Given the description of an element on the screen output the (x, y) to click on. 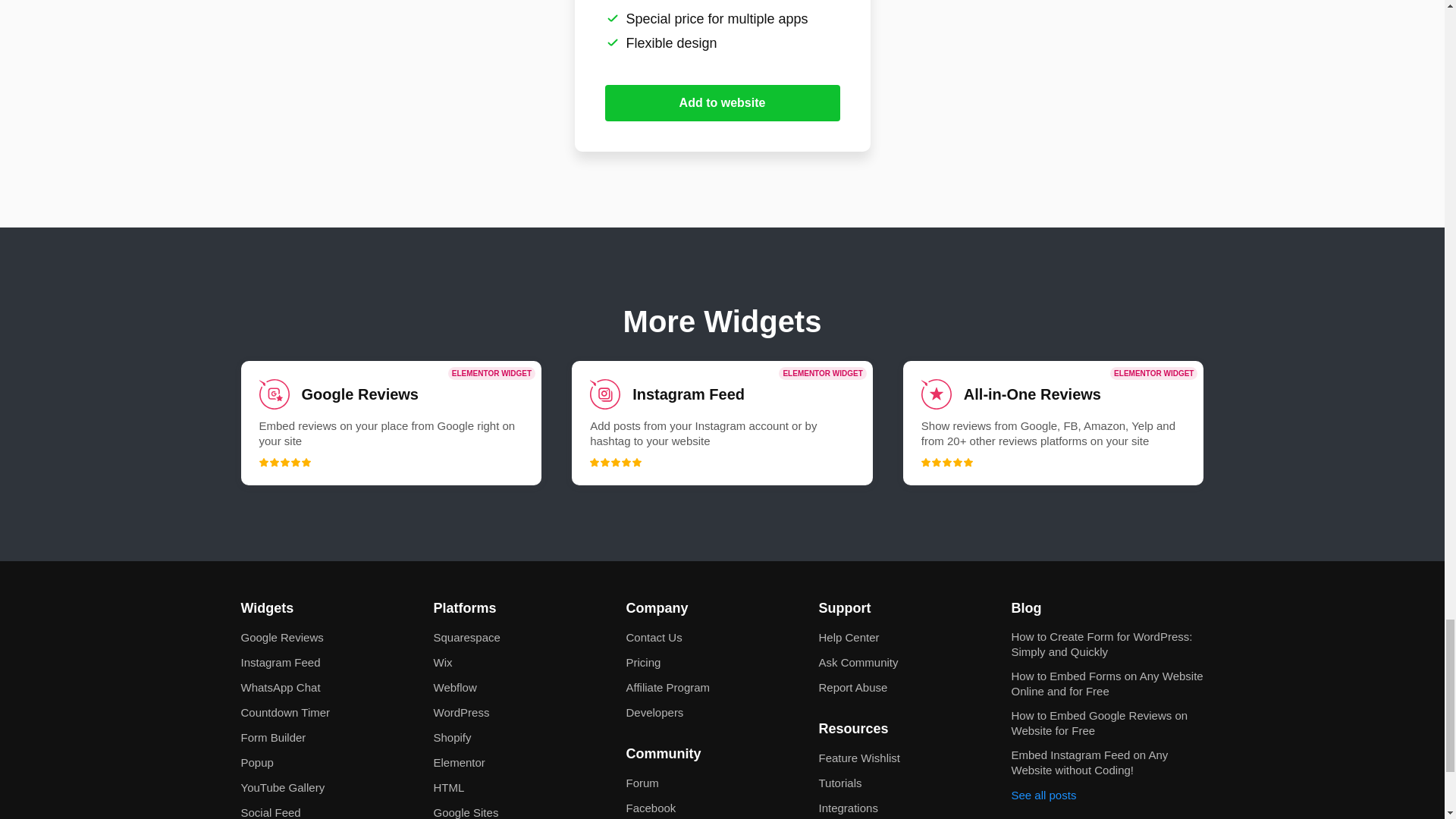
Google Reviews (391, 423)
Instagram Feed (722, 423)
All-in-One Reviews (1053, 423)
